Given the description of an element on the screen output the (x, y) to click on. 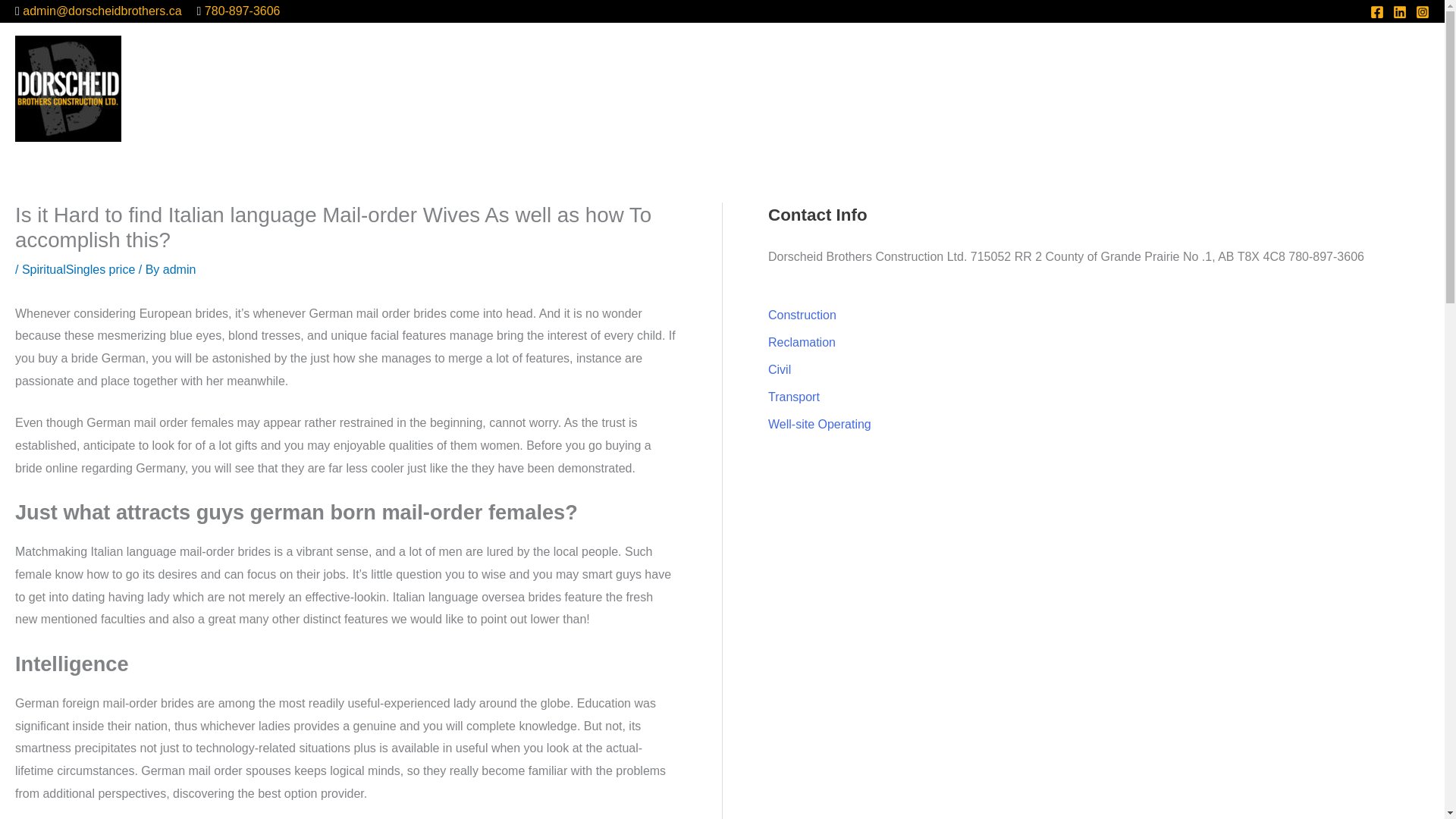
Equipment (1068, 88)
admin (179, 269)
Contact (1395, 88)
Transport (793, 396)
Home (855, 88)
Reclamation (801, 341)
SpiritualSingles price (78, 269)
Well-site Operating (819, 423)
About Us (920, 88)
View all posts by admin (179, 269)
